Given the description of an element on the screen output the (x, y) to click on. 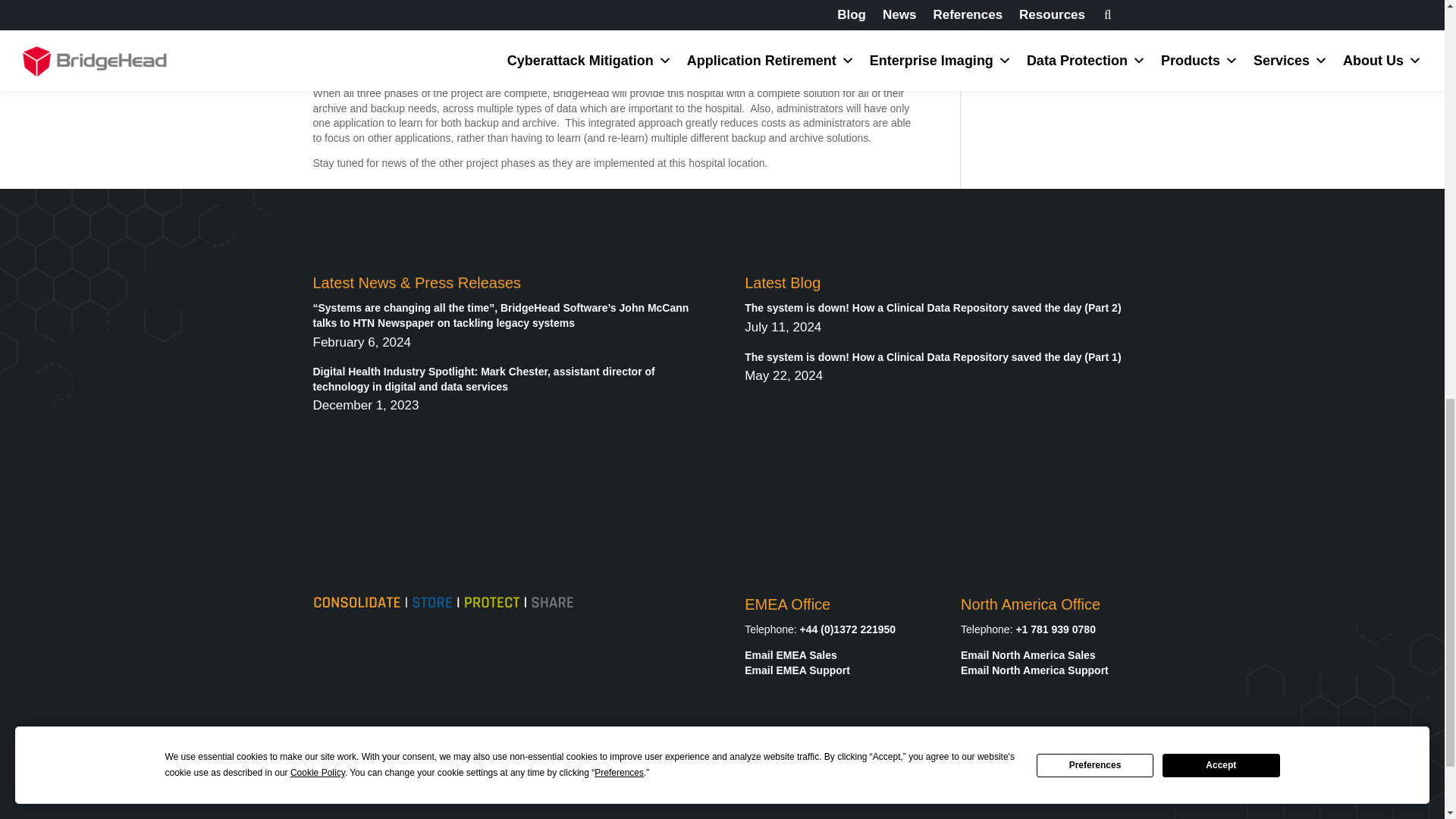
New Footer Logo (443, 603)
